Given the description of an element on the screen output the (x, y) to click on. 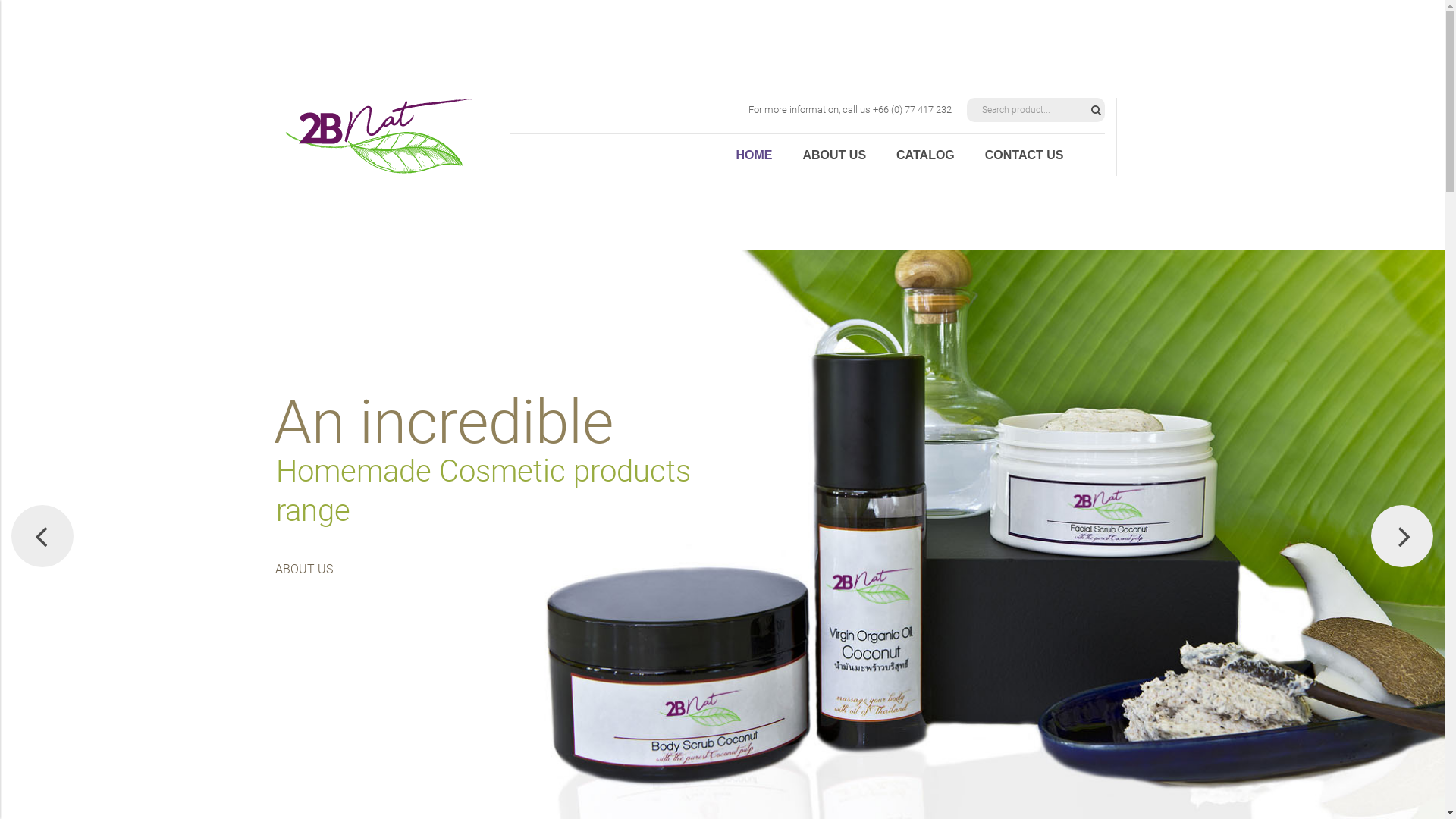
CATALOG Element type: text (925, 154)
ABOUT US Element type: text (334, 569)
CONTACT US Element type: text (1024, 154)
ABOUT US Element type: text (834, 154)
HOME Element type: text (753, 154)
